Given the description of an element on the screen output the (x, y) to click on. 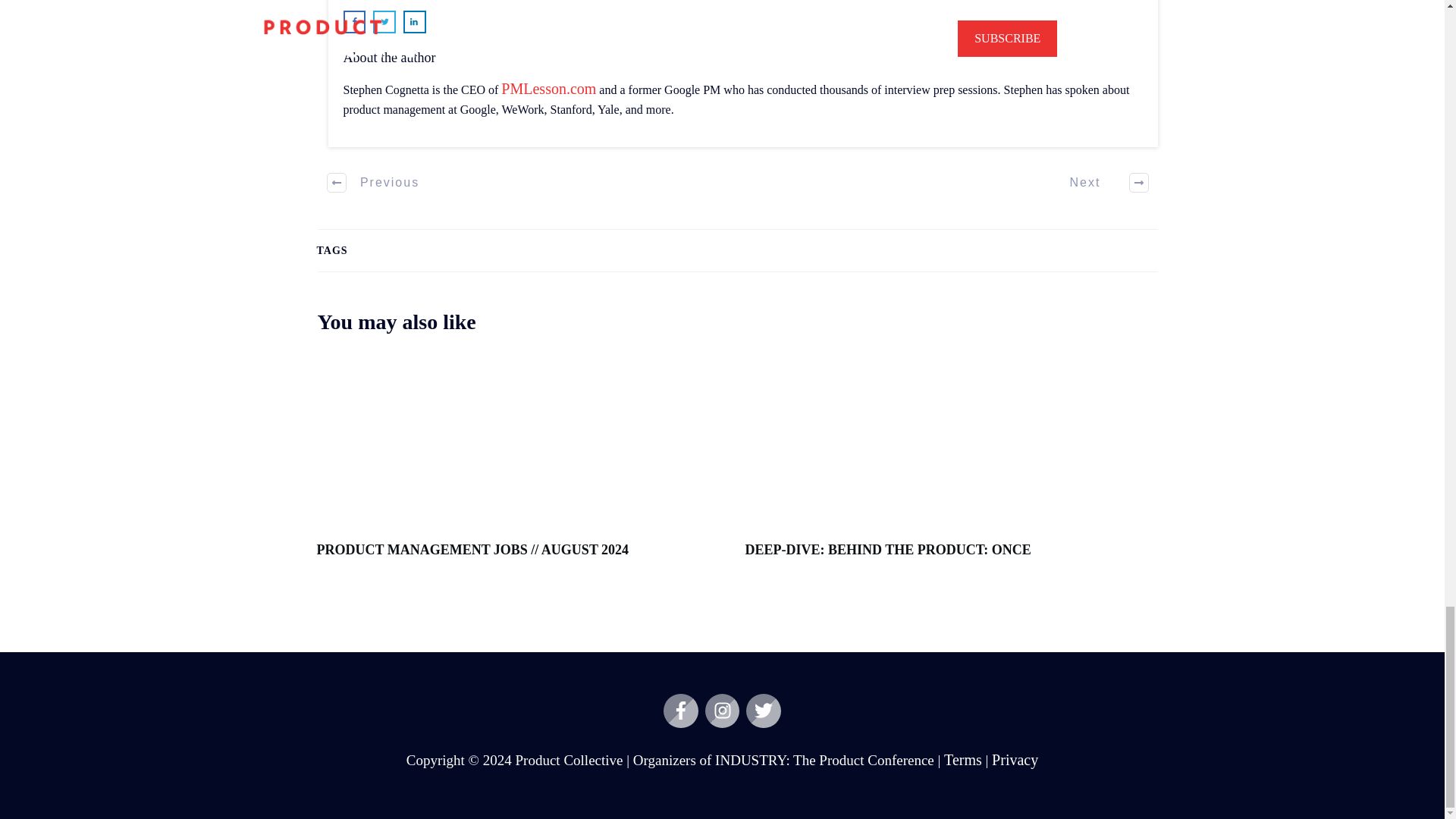
Deep-Dive: Behind the Product: Once (887, 549)
Previous (373, 182)
PMLesson.com (547, 88)
